Given the description of an element on the screen output the (x, y) to click on. 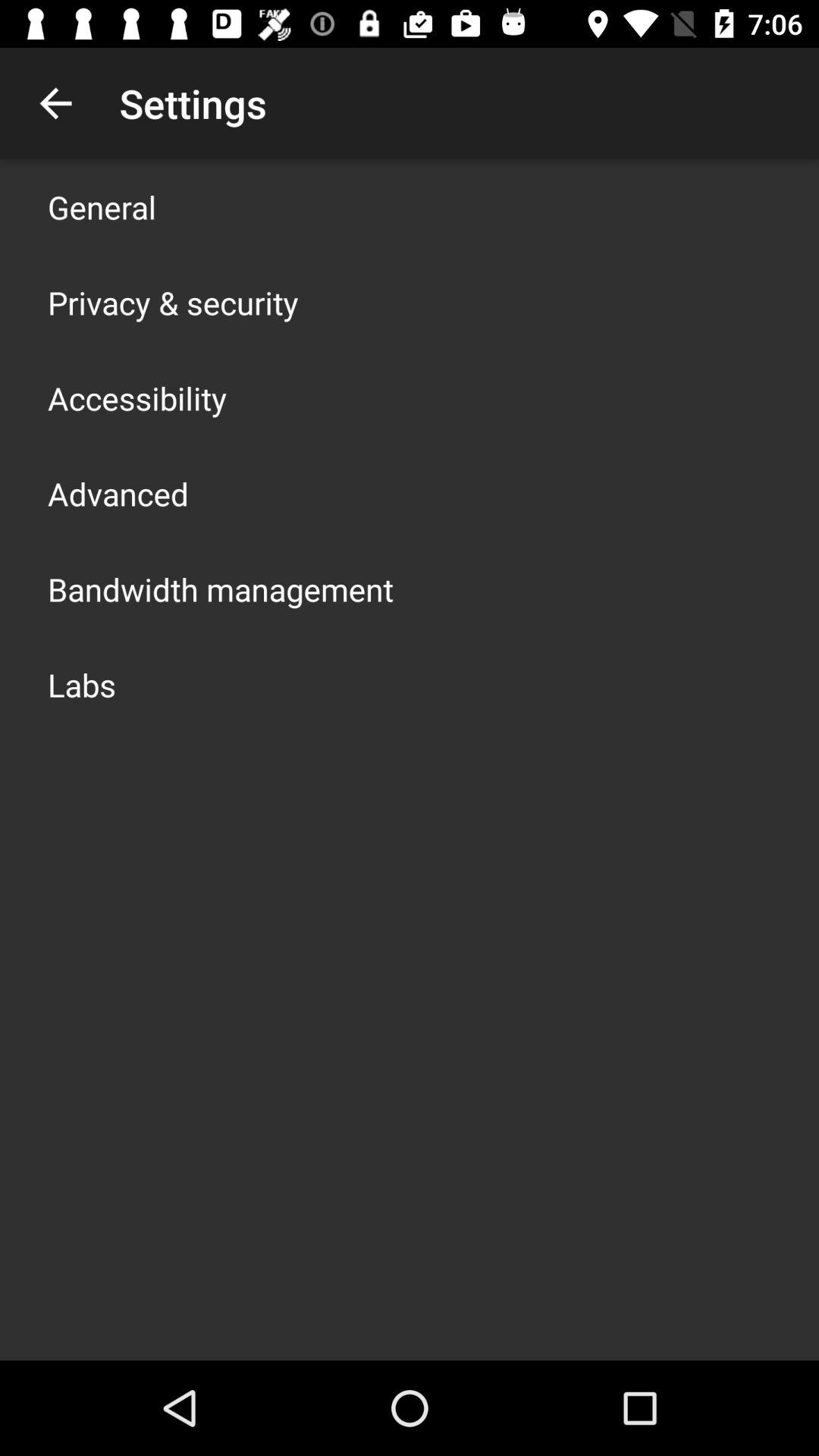
turn off app below accessibility item (117, 493)
